Given the description of an element on the screen output the (x, y) to click on. 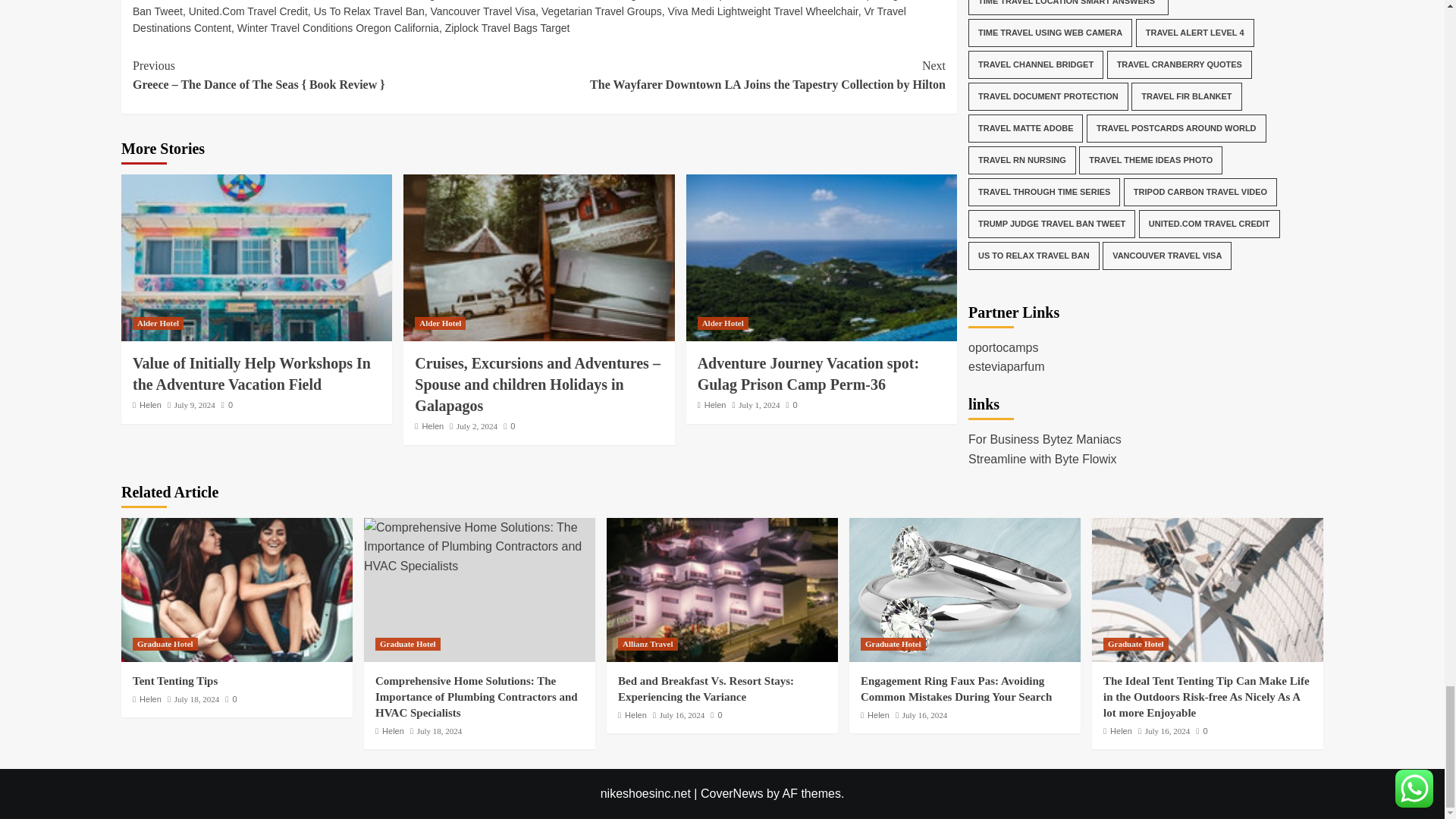
Tent Tenting Tips (236, 589)
Adventure Journey Vacation spot: Gulag Prison Camp Perm-36 (820, 257)
